Given the description of an element on the screen output the (x, y) to click on. 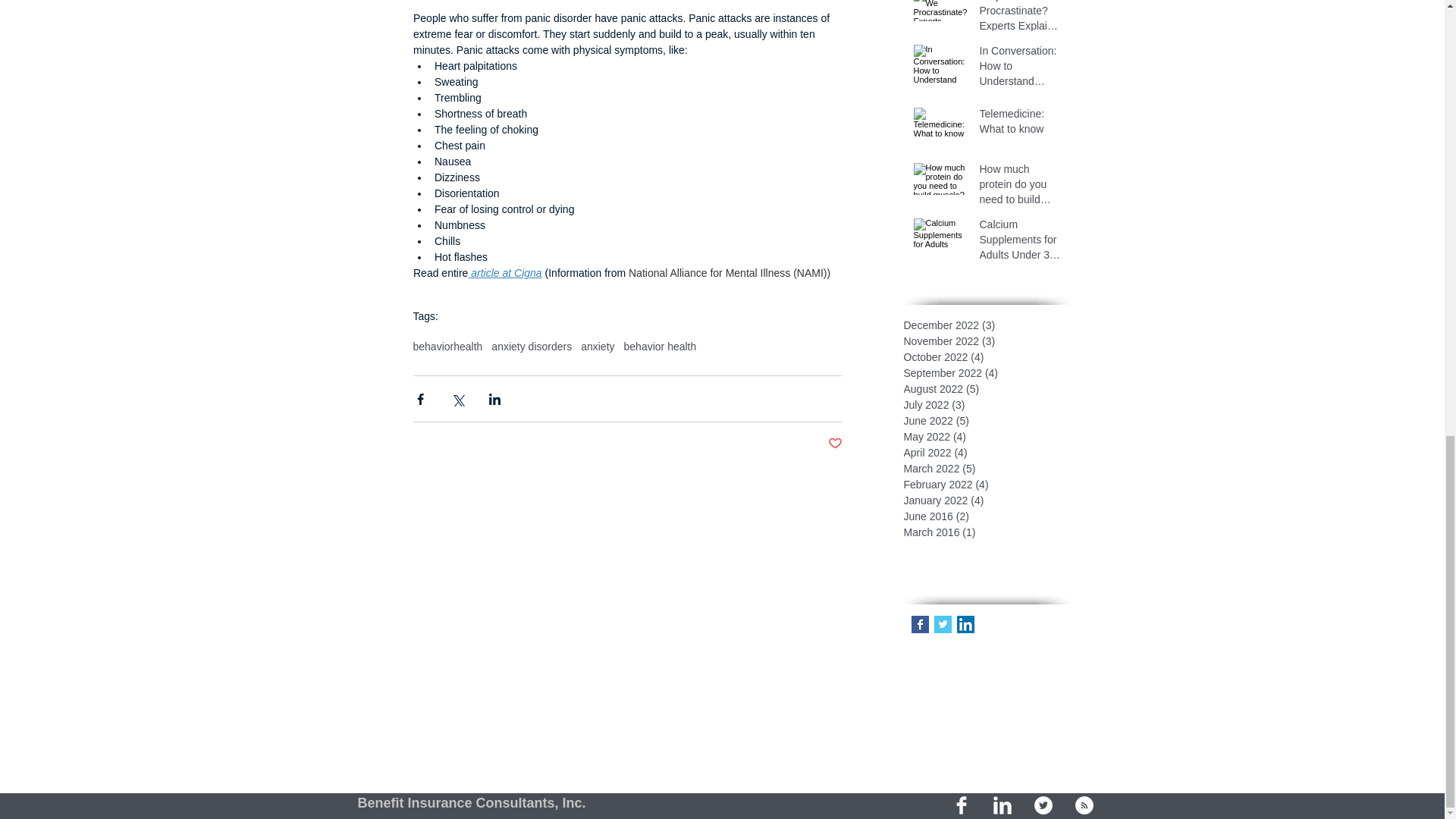
behavior health (660, 346)
Why Do We Procrastinate? Experts Explain the Science (1020, 19)
anxiety (597, 346)
anxiety disorders (532, 346)
How much protein do you need to build muscle? (1020, 187)
In Conversation: How to Understand Chronic Pain (1020, 69)
Post not marked as liked (835, 443)
 article at Cigna (504, 272)
Telemedicine: What to know (1020, 124)
behaviorhealth (446, 346)
